Given the description of an element on the screen output the (x, y) to click on. 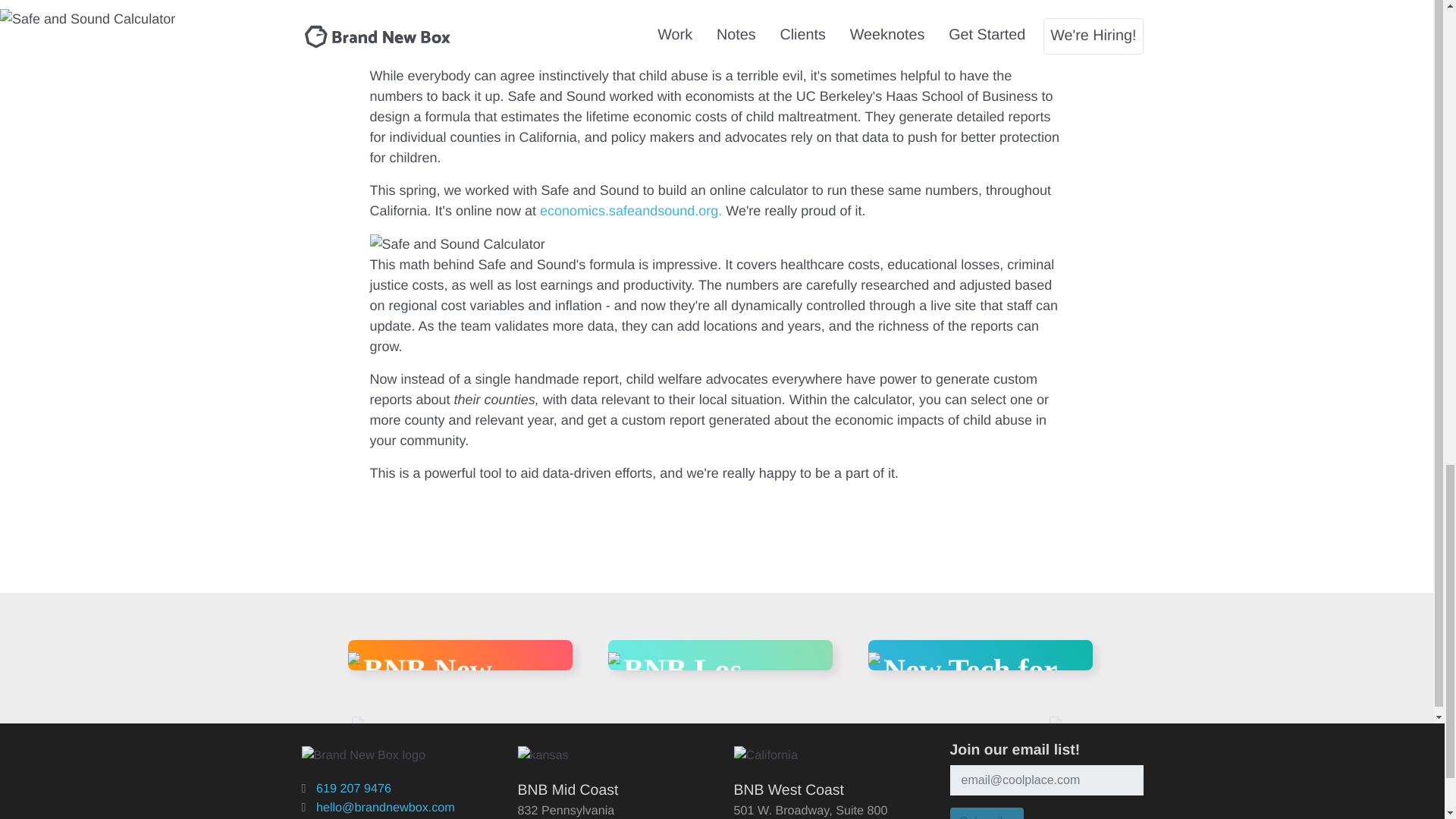
New Tech for the WSC (970, 685)
economics.safeandsound.org. (631, 210)
BNB Los Angeles Retreat (682, 700)
BNB New Orleans Retreat! (427, 700)
